Given the description of an element on the screen output the (x, y) to click on. 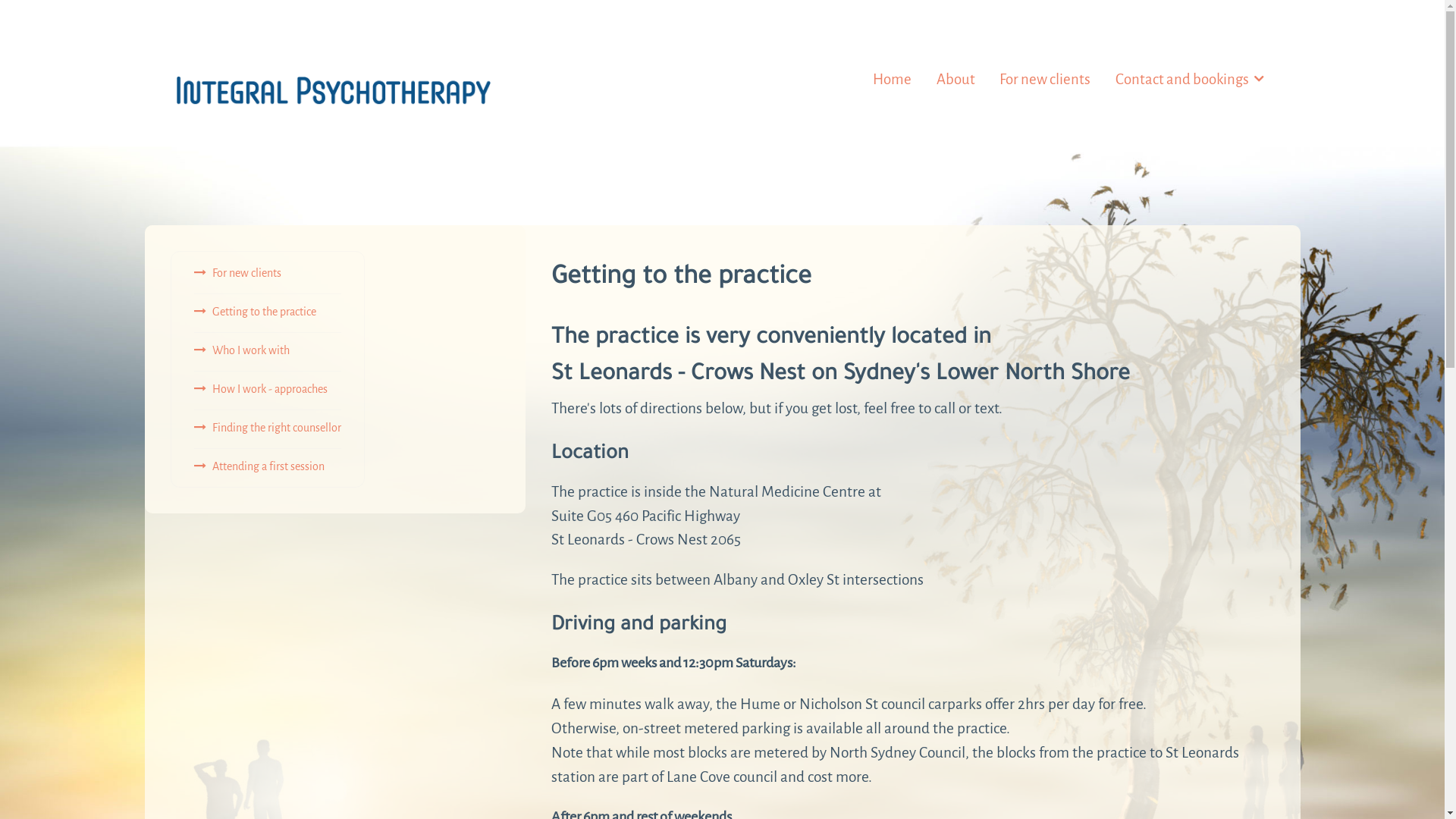
Attending a first session Element type: text (259, 465)
Who I work with Element type: text (241, 349)
Contact and bookings Element type: text (1189, 79)
For new clients Element type: text (237, 272)
For new clients Element type: text (1044, 79)
Home Element type: text (891, 79)
Getting to the practice Element type: text (255, 310)
About Element type: text (955, 79)
How I work - approaches Element type: text (260, 388)
Finding the right counsellor Element type: text (267, 426)
